Given the description of an element on the screen output the (x, y) to click on. 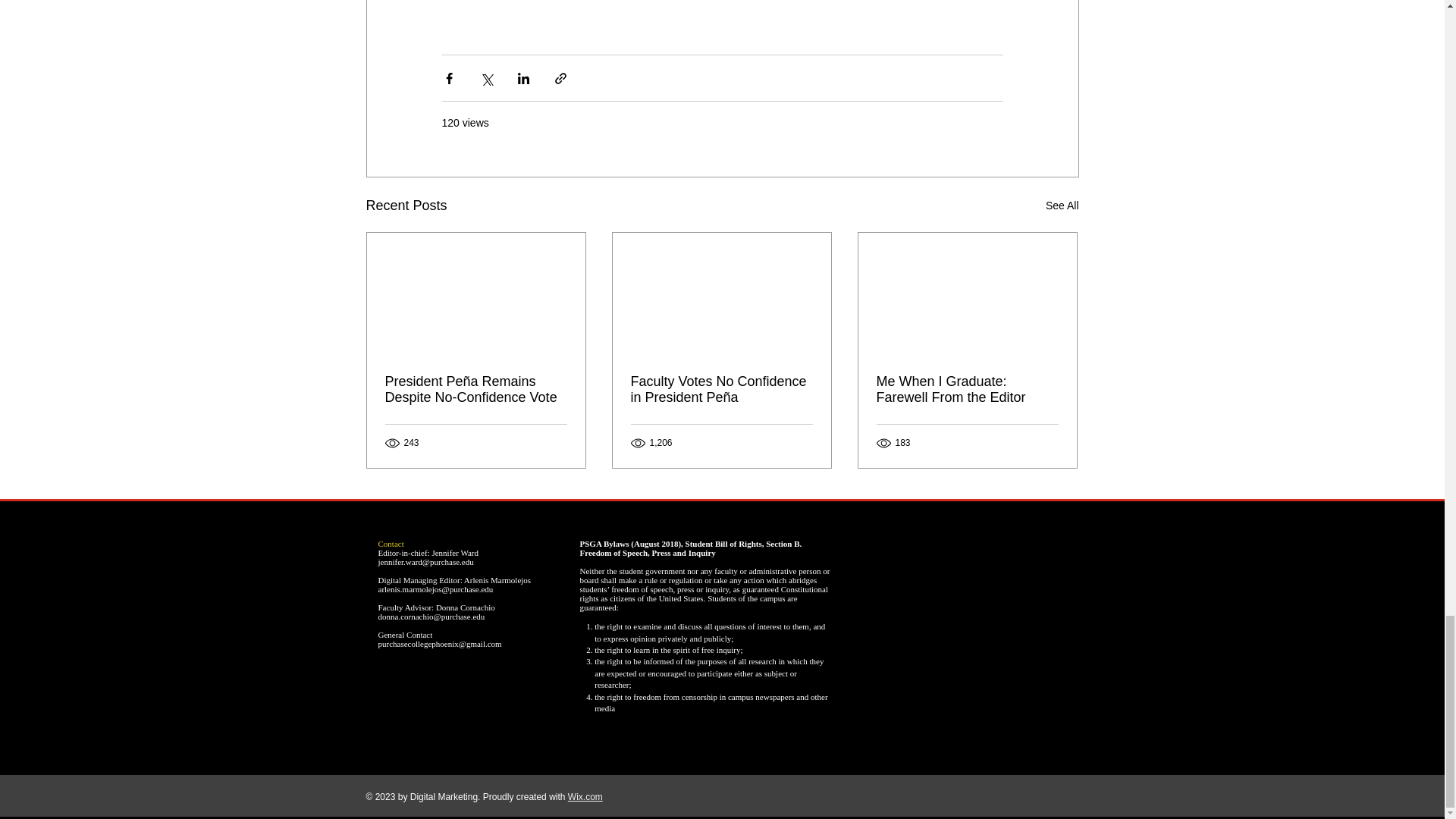
See All (1061, 205)
Me When I Graduate: Farewell From the Editor (967, 389)
Wix.com (584, 796)
